Given the description of an element on the screen output the (x, y) to click on. 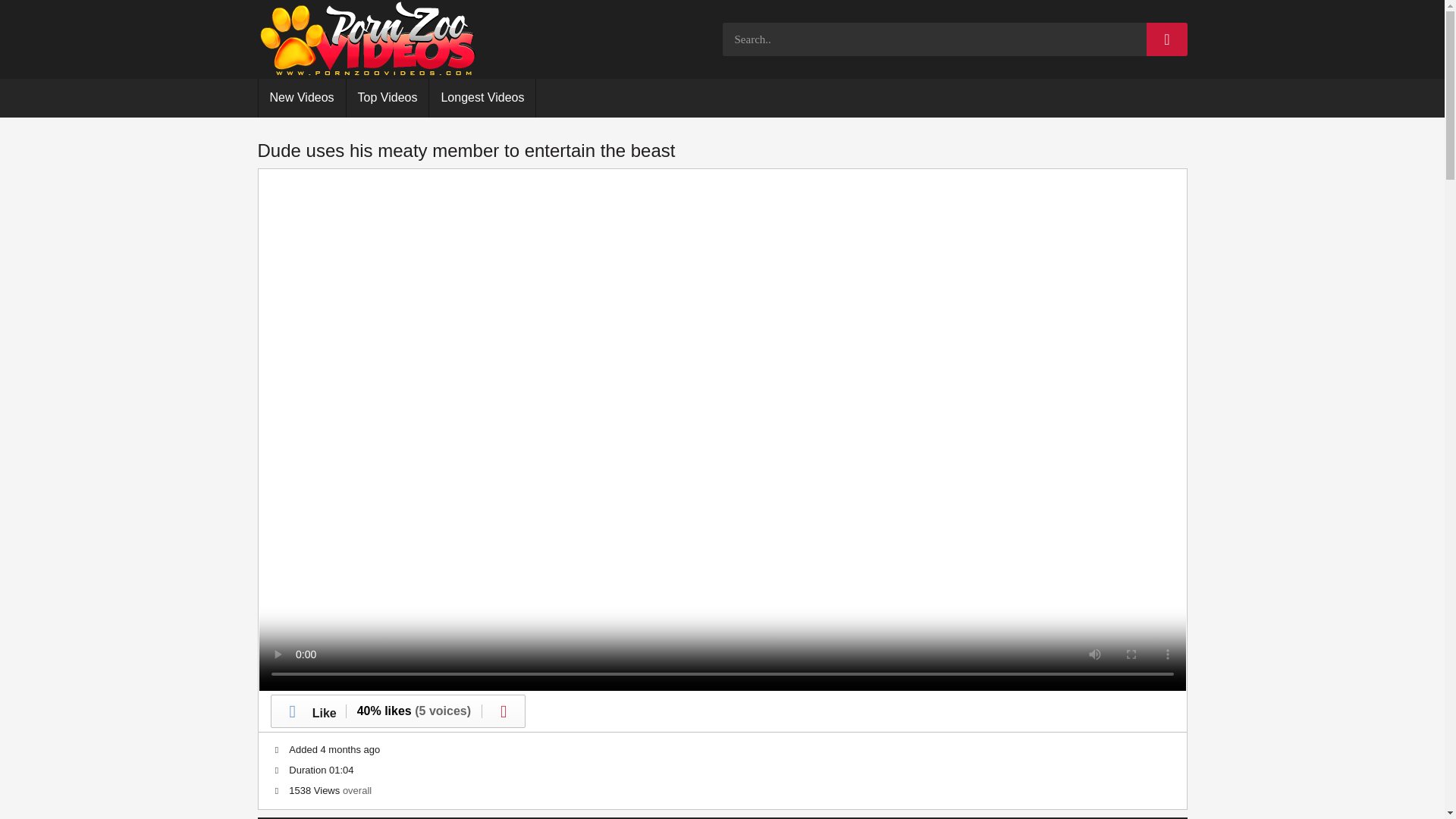
Top Videos (387, 97)
Longest Videos (482, 97)
Like (308, 711)
New Videos (301, 97)
